Given the description of an element on the screen output the (x, y) to click on. 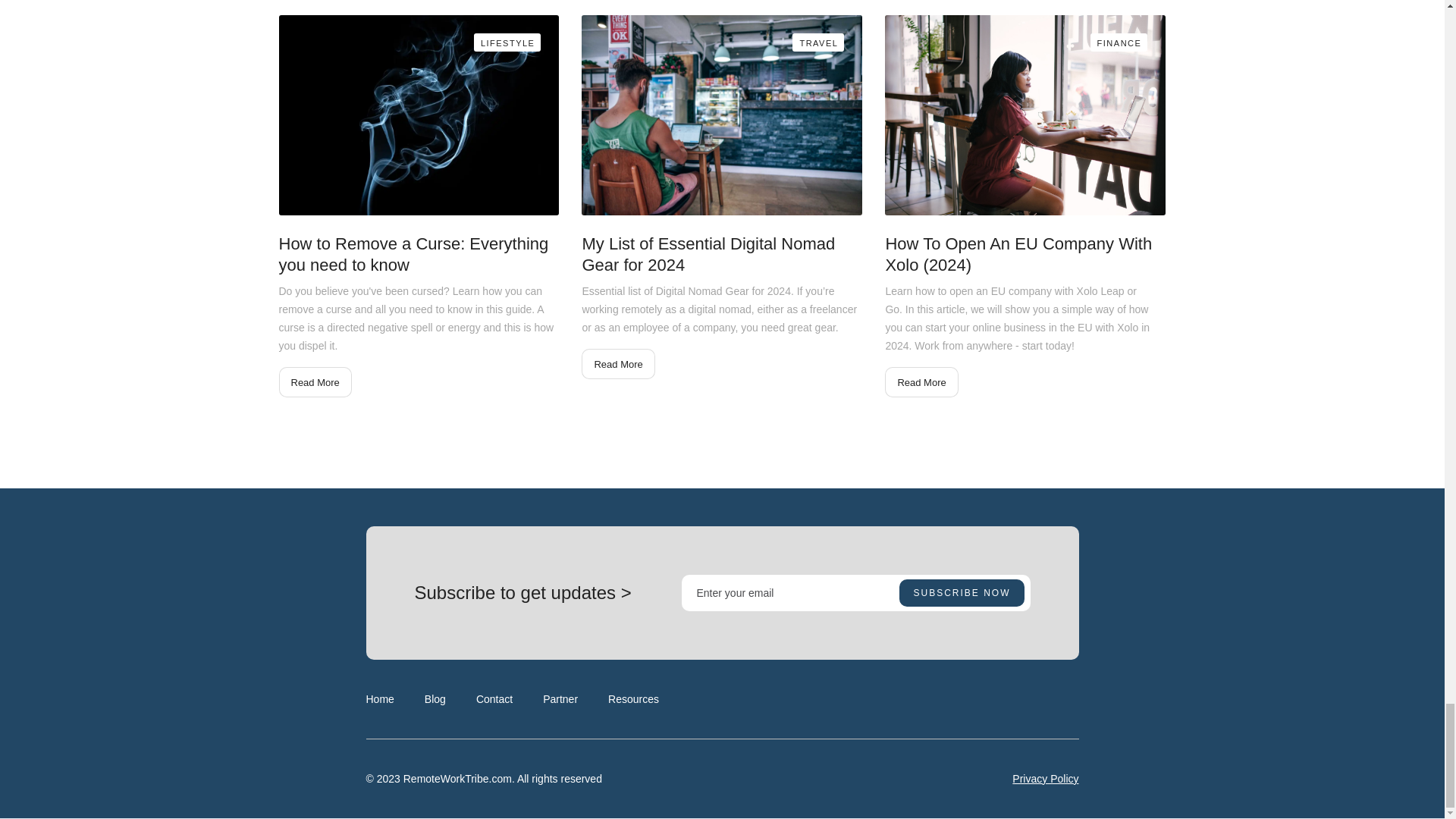
LIFESTYLE (507, 42)
Read More (315, 381)
Blog (435, 699)
Read More (616, 363)
My List of Essential Digital Nomad Gear for 2024 (720, 254)
FINANCE (1119, 42)
Read More (921, 381)
Partner (560, 699)
How to Remove a Curse: Everything you need to know (419, 254)
Subscribe Now (961, 592)
TRAVEL (818, 42)
Subscribe Now (961, 592)
Contact (494, 699)
Resources (633, 699)
Home (379, 699)
